Given the description of an element on the screen output the (x, y) to click on. 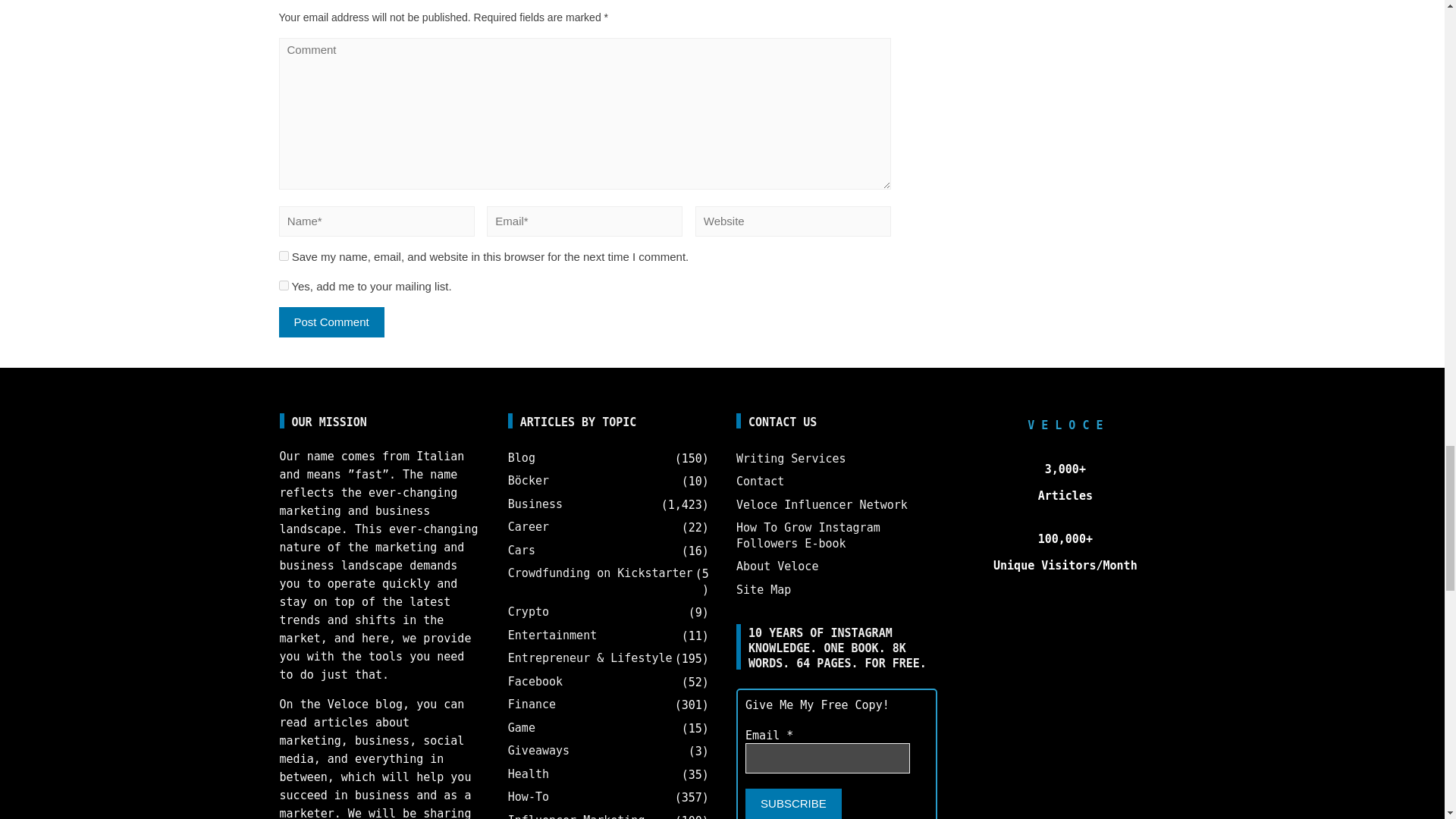
Email (827, 757)
SUBSCRIBE (793, 803)
Post Comment (331, 322)
How To Grow Instagram Followers E-book (808, 535)
yes (283, 255)
Post Comment (331, 322)
1 (283, 285)
